Given the description of an element on the screen output the (x, y) to click on. 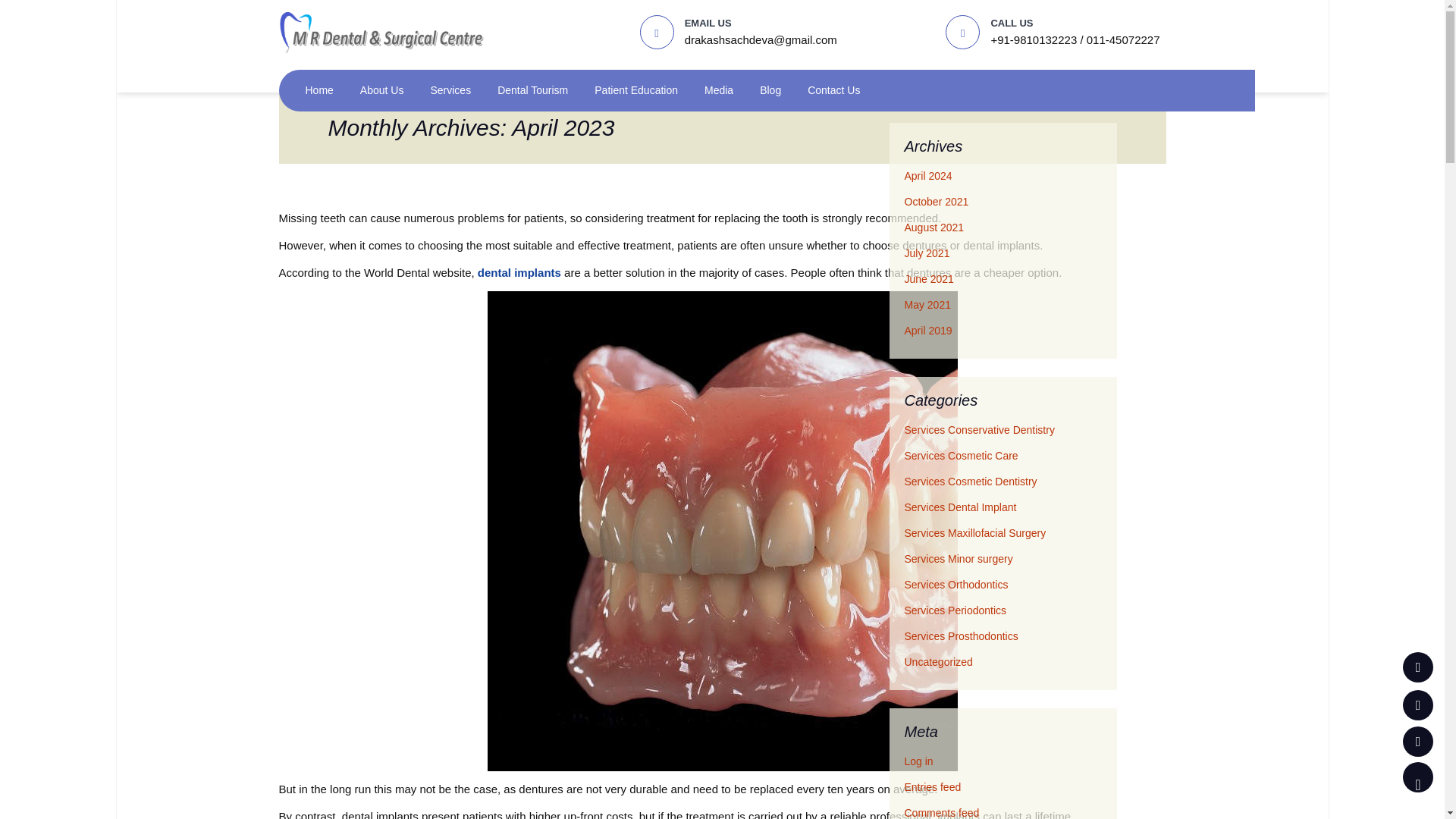
Services (449, 80)
Patient Education (636, 80)
dental implants (518, 262)
About Us (381, 80)
Contact Us (834, 80)
Dental Tourism (532, 80)
